Given the description of an element on the screen output the (x, y) to click on. 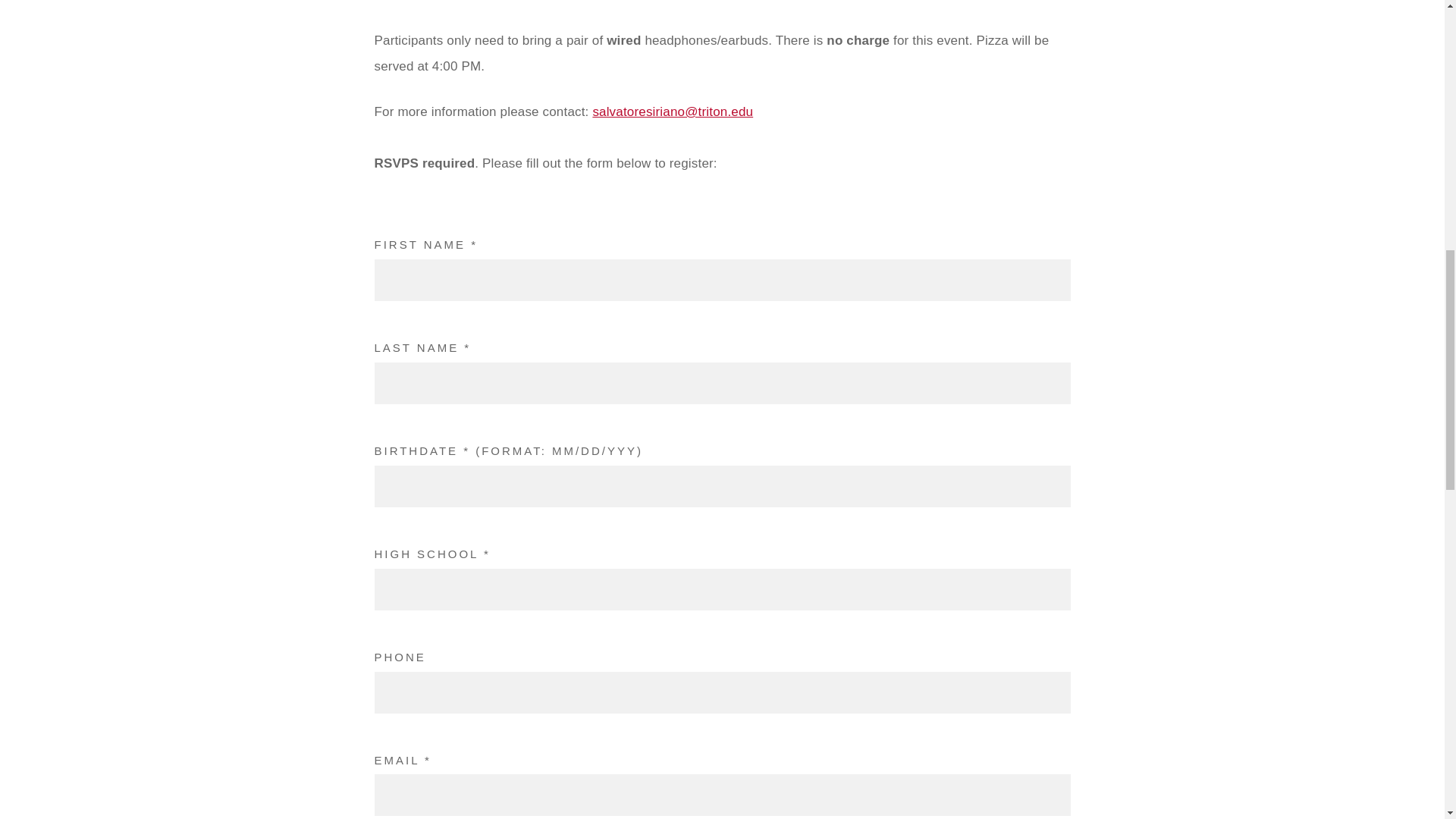
Enter High School (722, 589)
Enter Last Name (722, 383)
Enter First Name (722, 280)
Enter valid Email (722, 794)
Enter Valid Birthdate (722, 486)
Enter Valid Phone or Leave blank (722, 692)
Salvatore Siriano Email (672, 111)
